Given the description of an element on the screen output the (x, y) to click on. 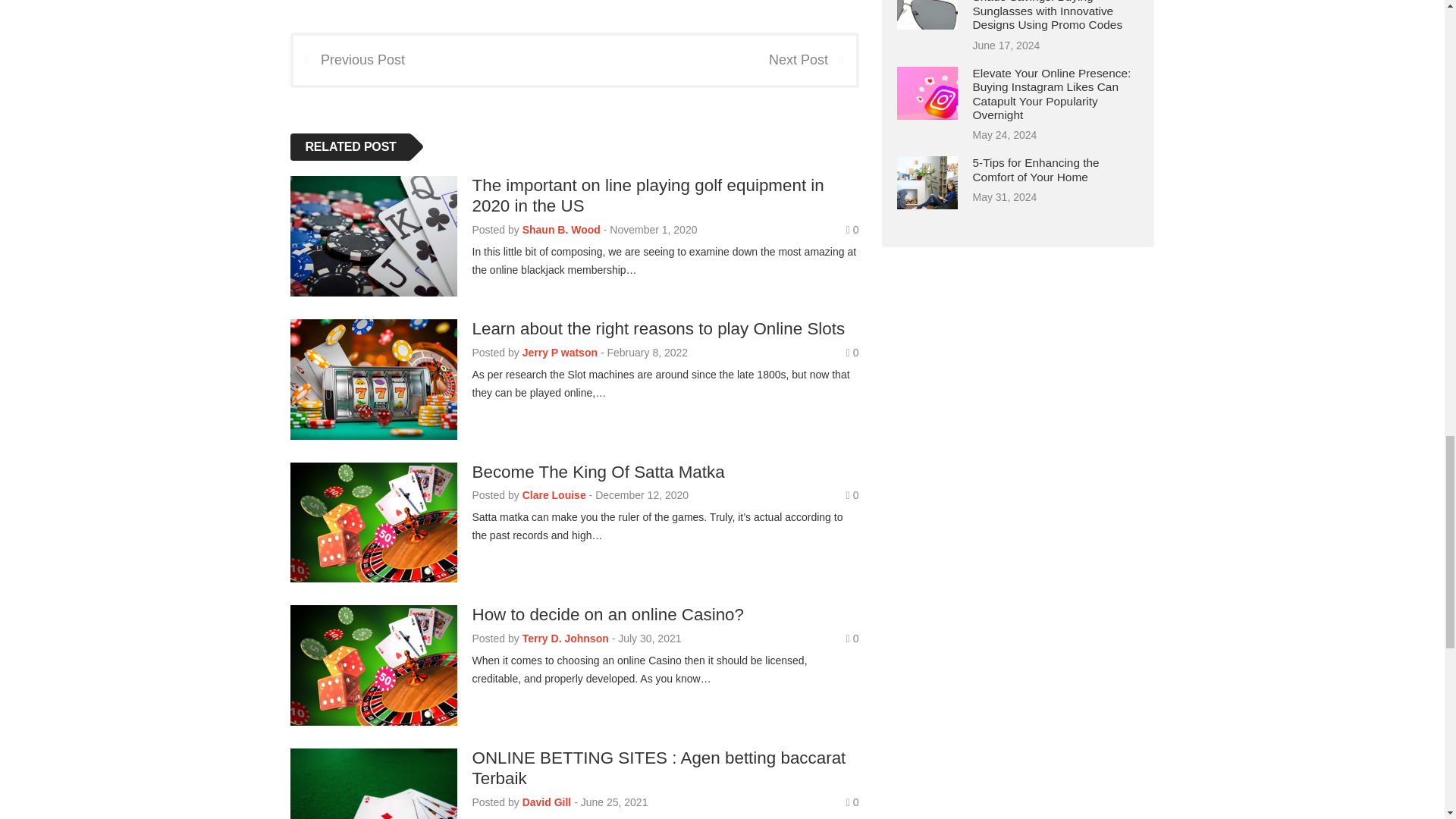
Posts by Clare Louise (554, 494)
Posts by Jerry P watson (559, 351)
Posts by David Gill (547, 802)
Posts by Terry D. Johnson (565, 638)
Posts by Shaun B. Wood (560, 228)
